Given the description of an element on the screen output the (x, y) to click on. 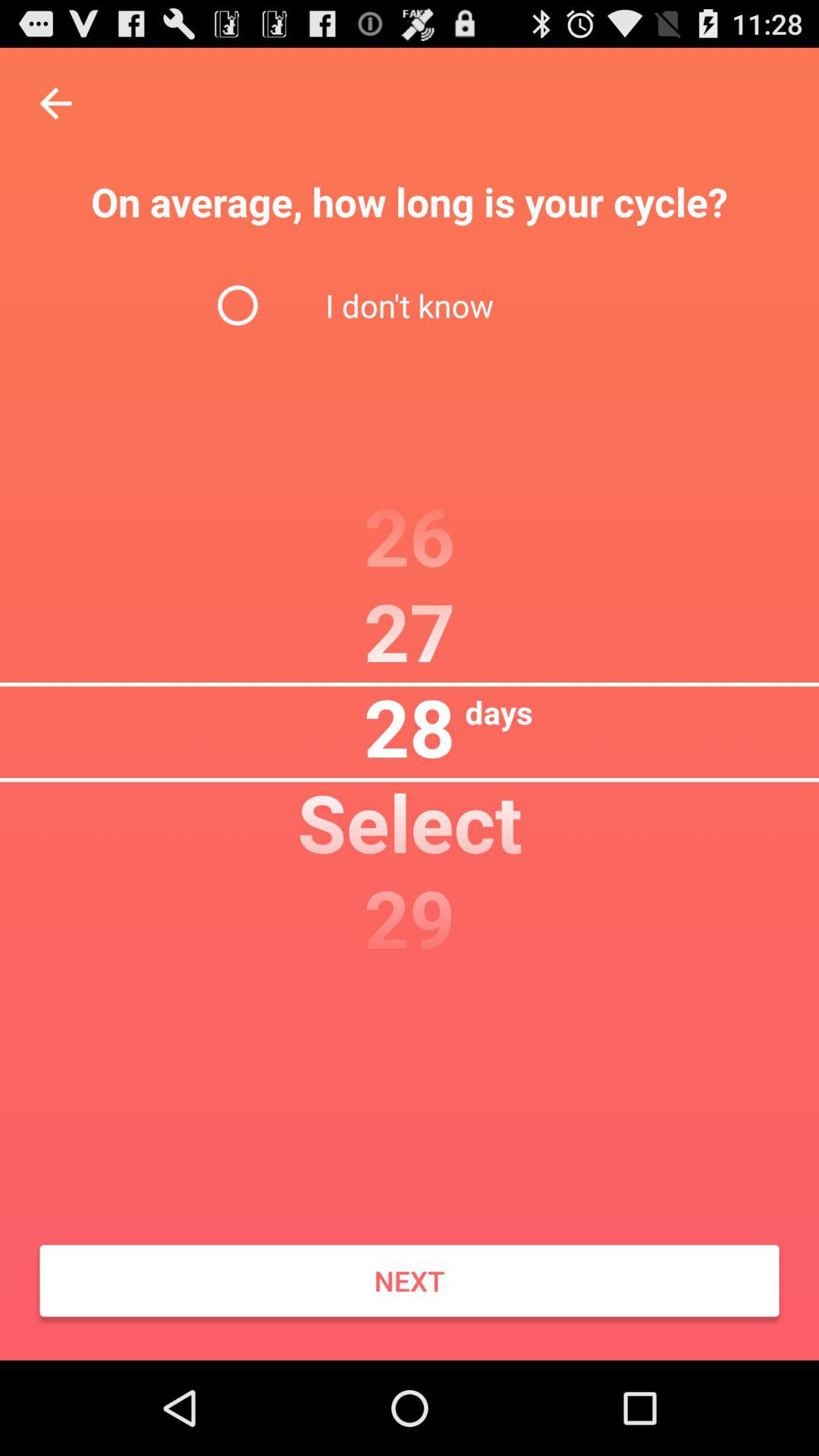
select cycle length (55, 103)
